Given the description of an element on the screen output the (x, y) to click on. 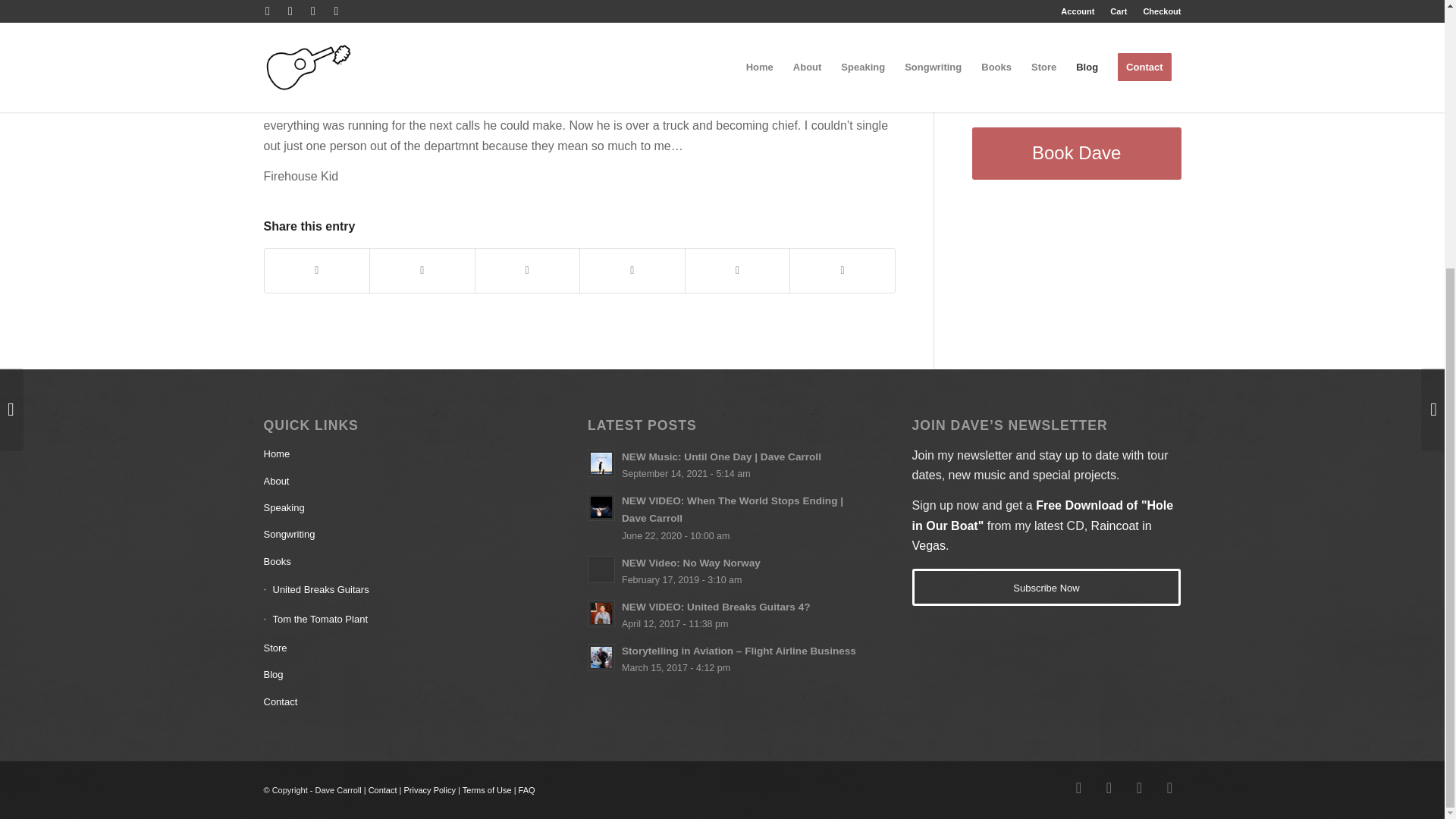
NEW Video: No Way Norway (722, 570)
Store (397, 648)
Songwriting (397, 534)
Blog (397, 674)
About (397, 481)
Tom the Tomato Plant (397, 619)
United Breaks Guitars (397, 590)
Spotify Embed: Dave Carroll (1076, 33)
Home (397, 454)
Speaking (397, 508)
Books (397, 561)
Book Dave (1076, 153)
